Given the description of an element on the screen output the (x, y) to click on. 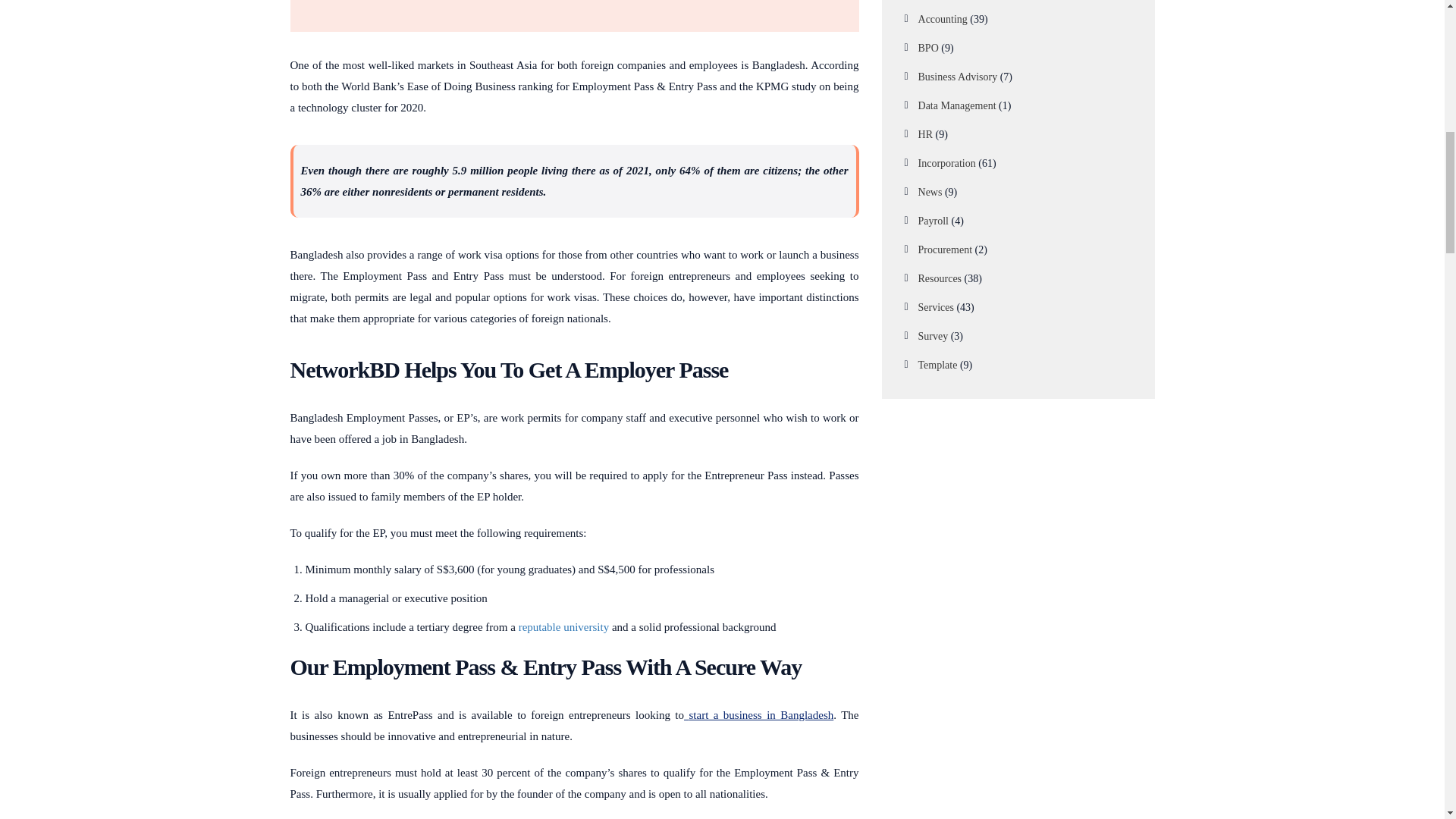
Offshore Financial Services In Bangladesh (561, 626)
Vendor Management In Procurement (758, 715)
